Given the description of an element on the screen output the (x, y) to click on. 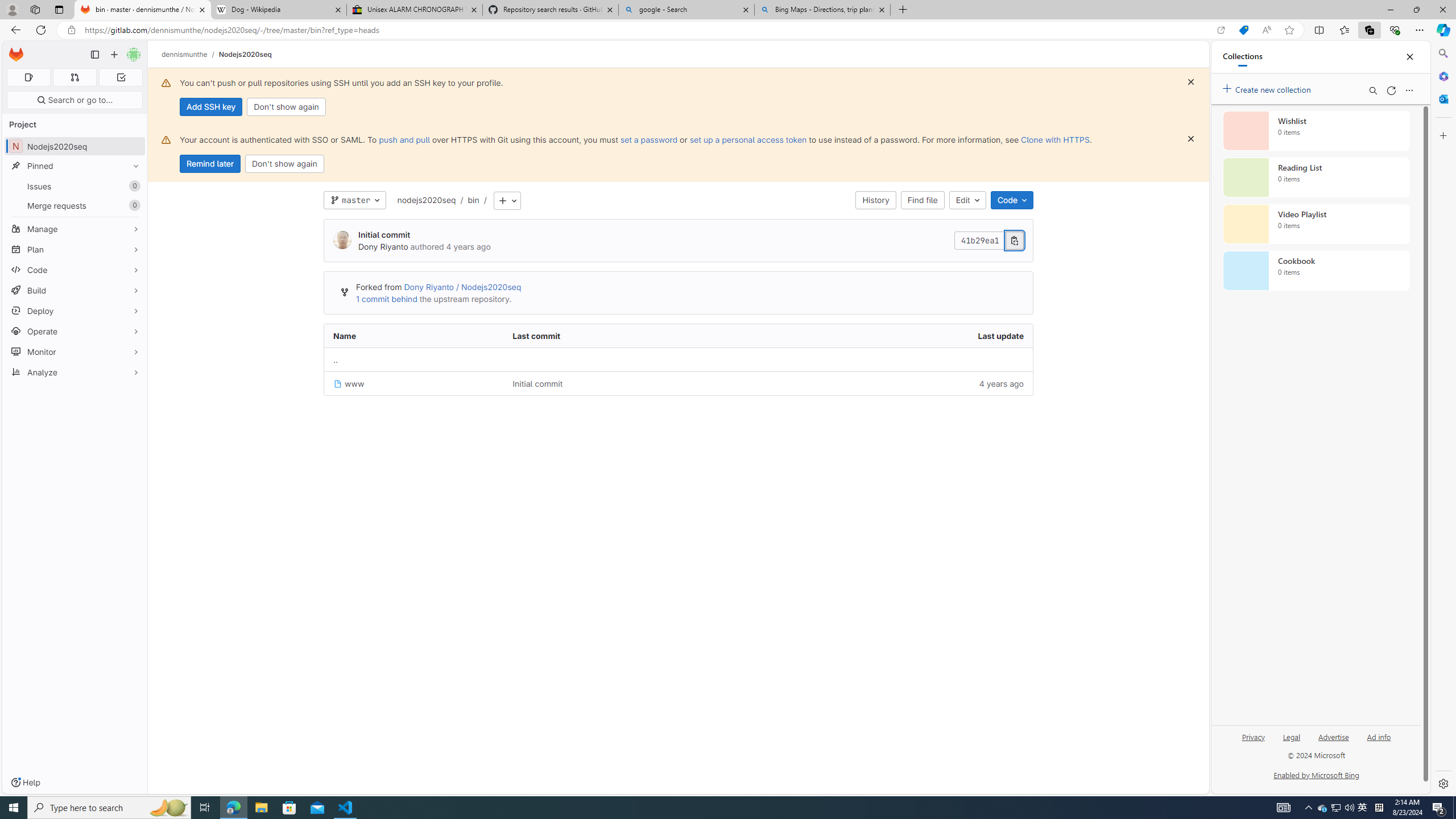
Unpin Issues (132, 186)
Class: s16 gl-alert-icon gl-alert-icon-no-title (165, 139)
Create new... (113, 54)
Code (74, 269)
bin (473, 199)
Add to tree (507, 200)
Privacy (1253, 736)
Issues 0 (74, 185)
Privacy (1252, 741)
Advertise (1333, 741)
master (355, 199)
Ad info (1378, 741)
Class: s16 position-relative file-icon (337, 384)
www (413, 383)
